Given the description of an element on the screen output the (x, y) to click on. 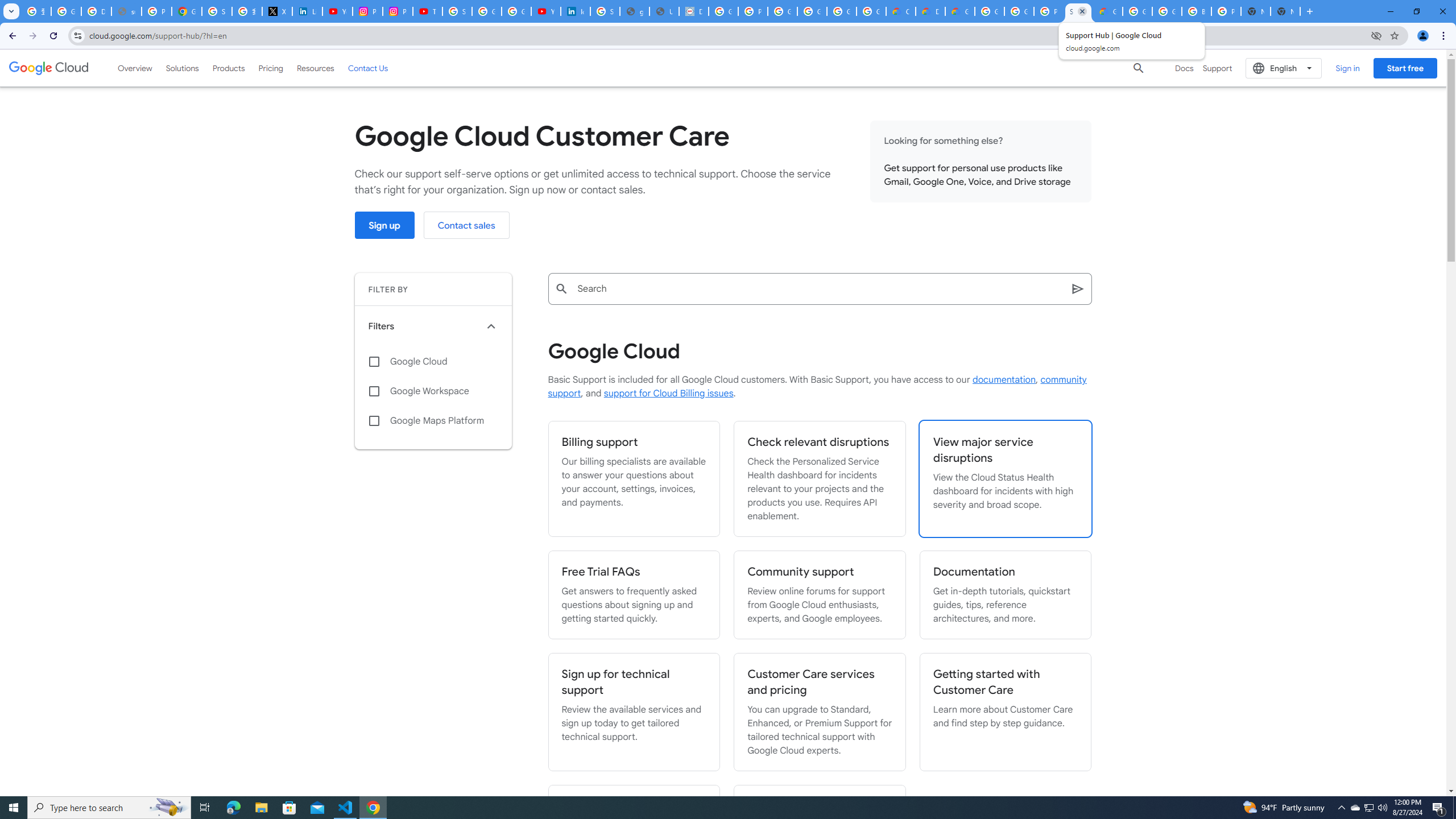
Data Privacy Framework (693, 11)
Solutions (181, 67)
Sign up (383, 225)
